Given the description of an element on the screen output the (x, y) to click on. 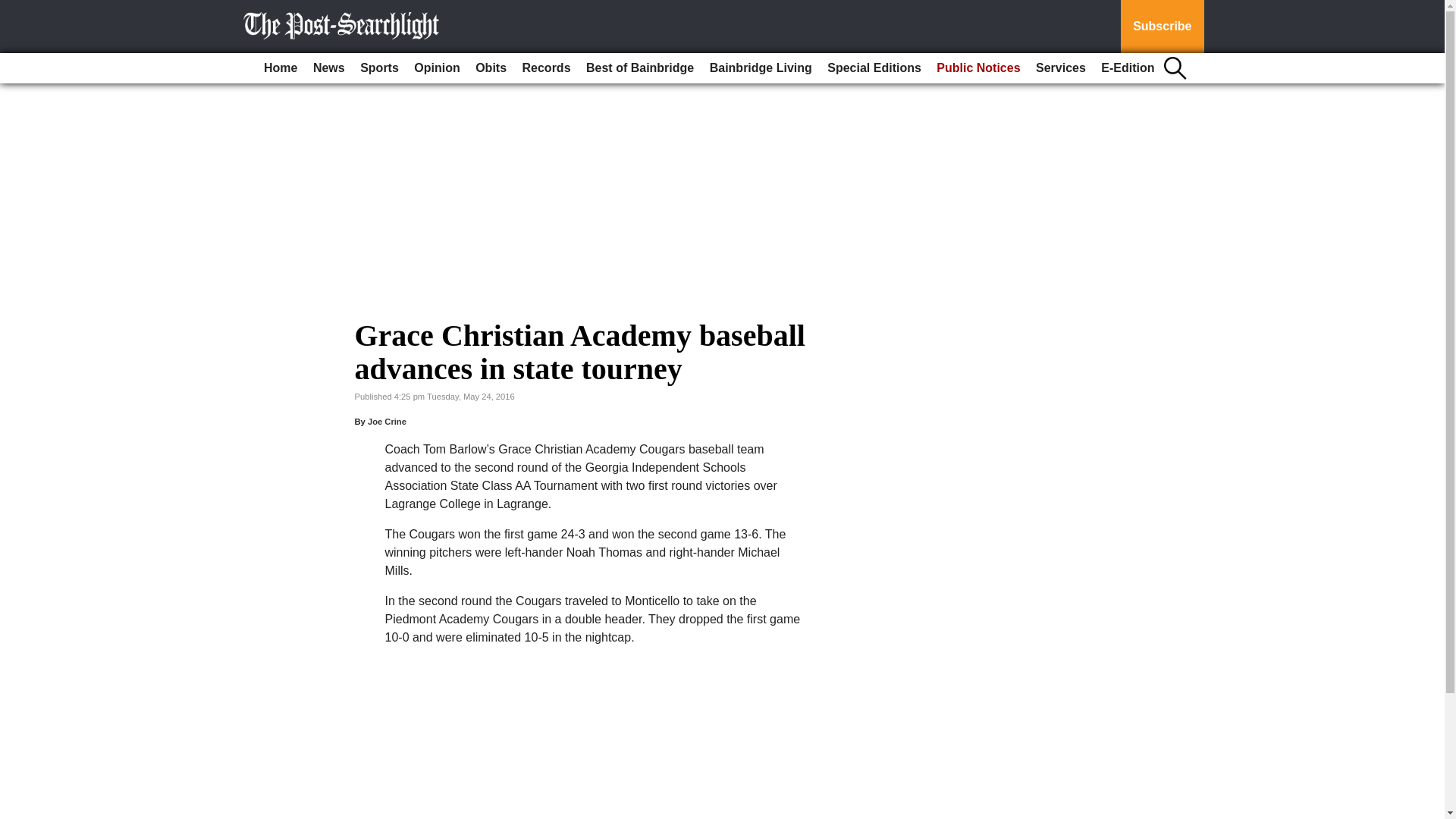
Go (13, 9)
Home (279, 68)
Special Editions (874, 68)
Sports (378, 68)
Services (1060, 68)
Public Notices (978, 68)
News (328, 68)
Obits (490, 68)
Best of Bainbridge (639, 68)
Joe Crine (387, 420)
